Given the description of an element on the screen output the (x, y) to click on. 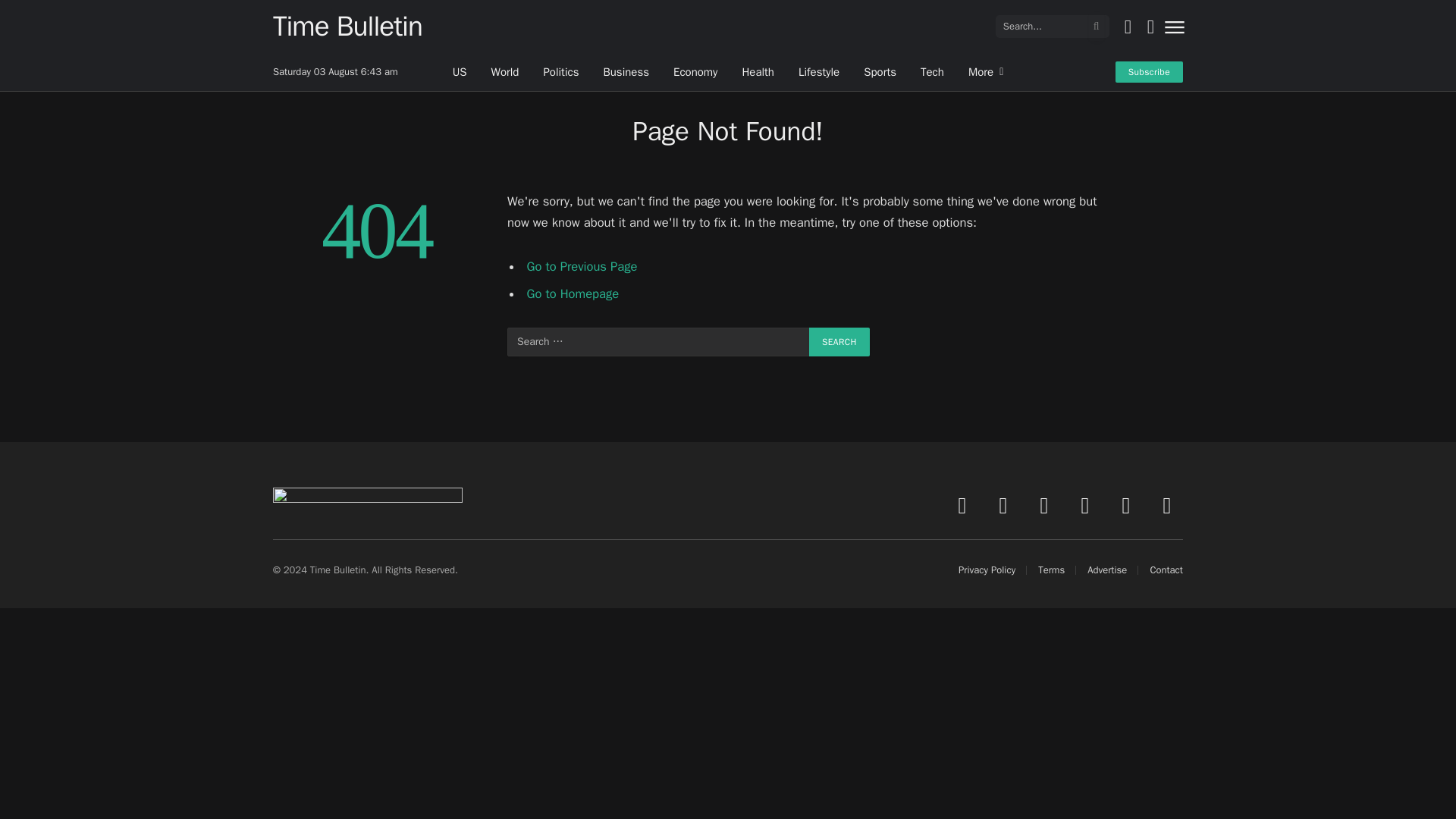
Lifestyle (818, 71)
More (985, 71)
Economy (695, 71)
Politics (561, 71)
Search (839, 341)
US (460, 71)
Time Bulletin (347, 25)
Search (839, 341)
Health (757, 71)
Tech (932, 71)
Time Bulletin (347, 25)
Switch to Light Design. (1127, 26)
World (505, 71)
Sports (879, 71)
Business (626, 71)
